Given the description of an element on the screen output the (x, y) to click on. 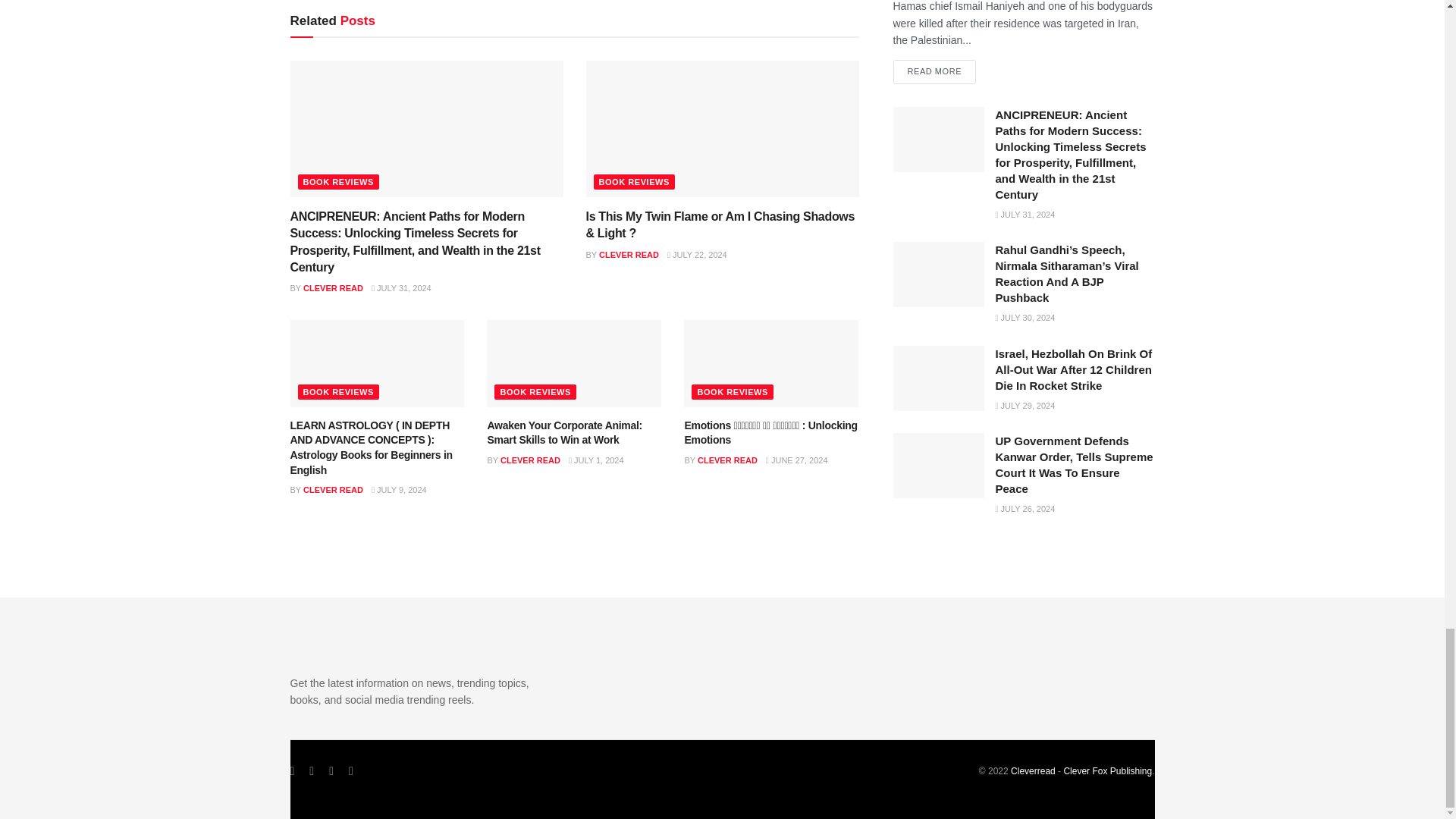
v (1106, 770)
